Given the description of an element on the screen output the (x, y) to click on. 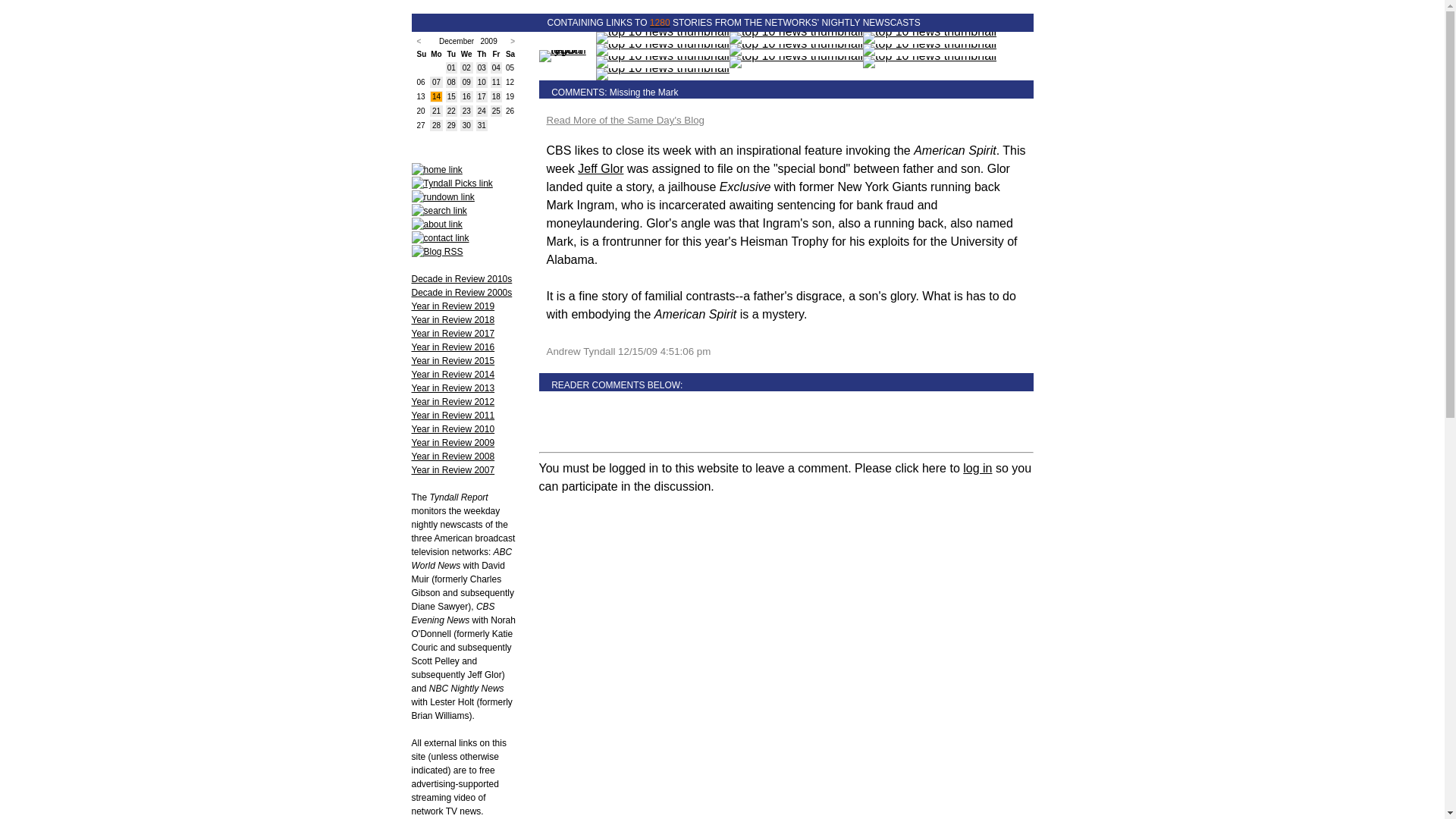
07 (436, 81)
31 (481, 125)
25 (496, 111)
16 (466, 96)
30 (466, 125)
23 (466, 111)
18 (496, 96)
03 (481, 67)
21 (436, 111)
log in (976, 468)
